Given the description of an element on the screen output the (x, y) to click on. 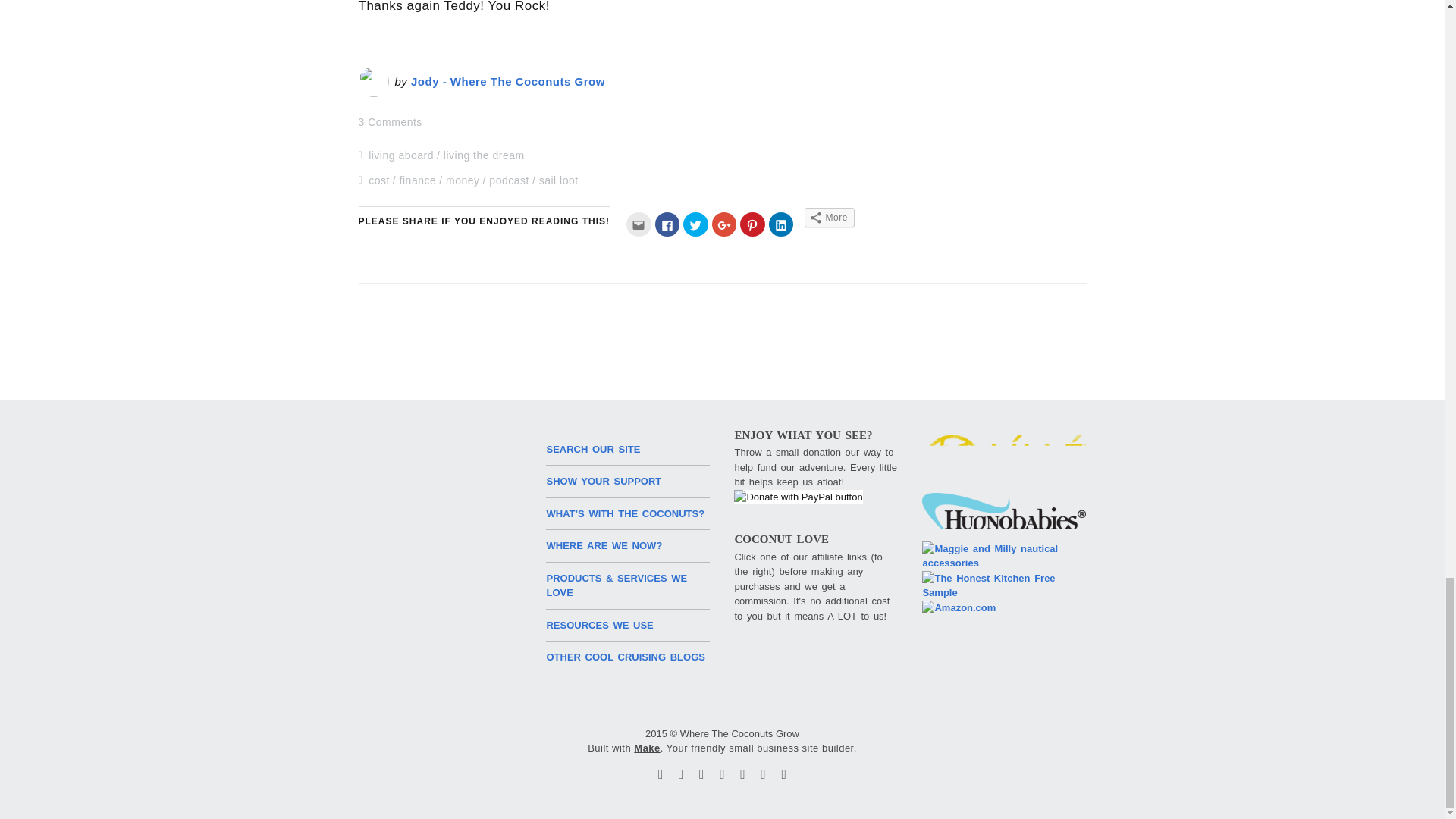
cost (379, 180)
finance (417, 180)
SEARCH OUR SITE (593, 449)
podcast (509, 180)
3 Comments (390, 121)
Click to email this to a friend (638, 224)
Click to share on Twitter (694, 224)
living the dream (484, 155)
Amazon.com (958, 607)
Click to share on Facebook (667, 224)
